Given the description of an element on the screen output the (x, y) to click on. 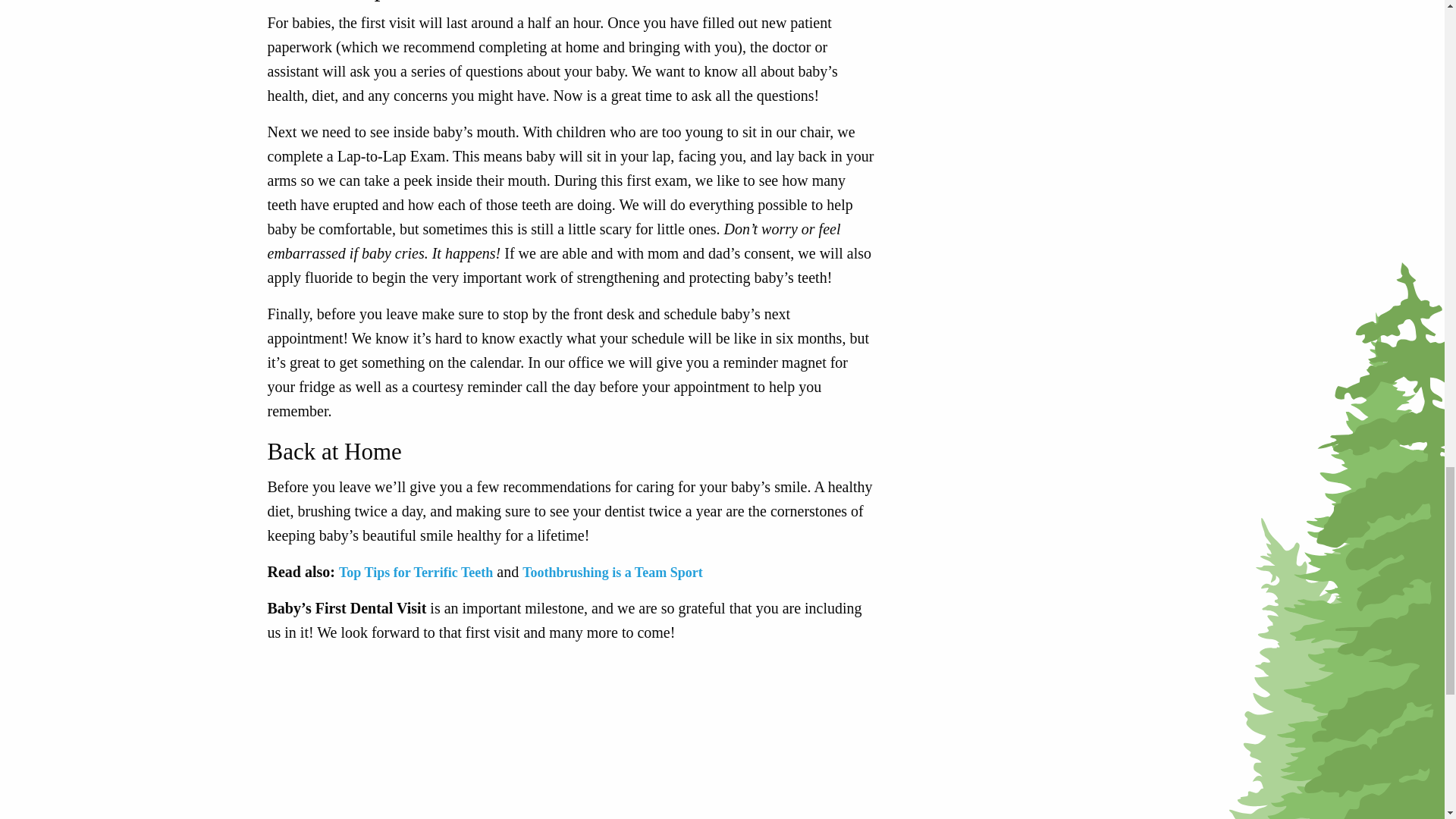
Toothbrushing is a Team Sport (611, 572)
Top Tips for Terrific Teeth (416, 572)
